Given the description of an element on the screen output the (x, y) to click on. 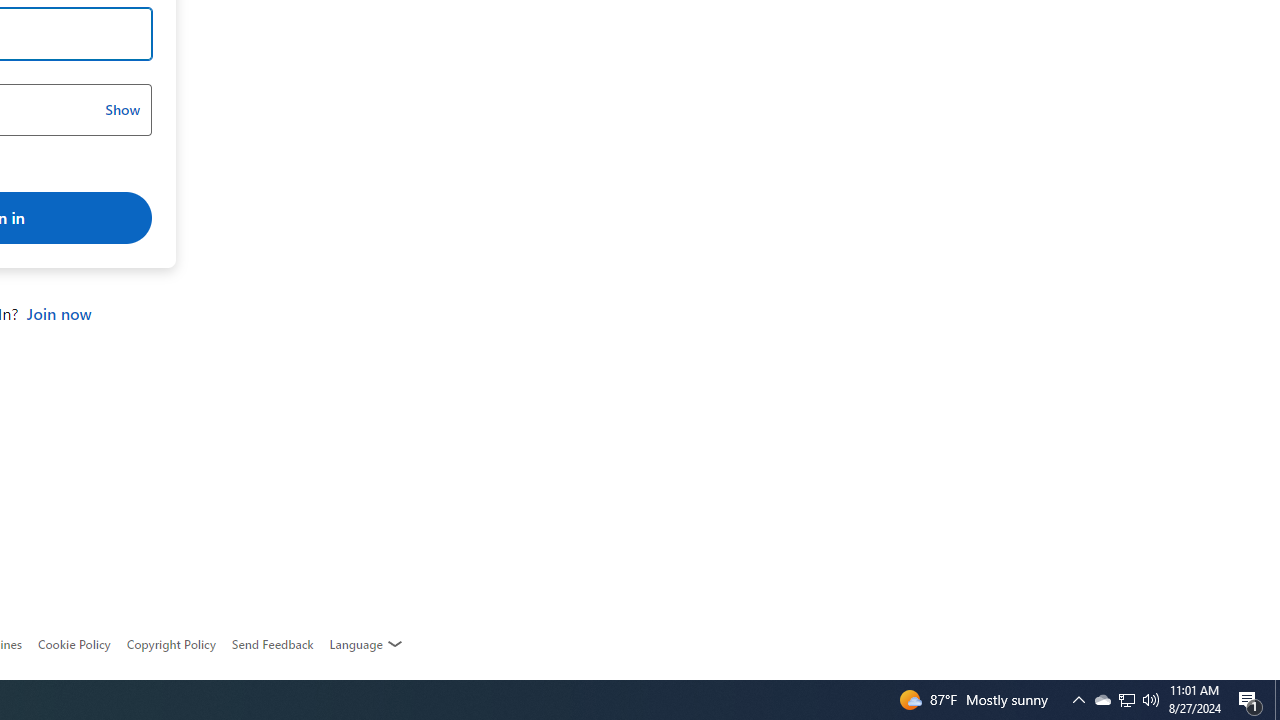
Join now (58, 314)
AutomationID: feedback-request (272, 643)
Send Feedback (271, 643)
Copyright Policy (170, 643)
Show (122, 110)
Language (365, 643)
Cookie Policy (74, 643)
